Given the description of an element on the screen output the (x, y) to click on. 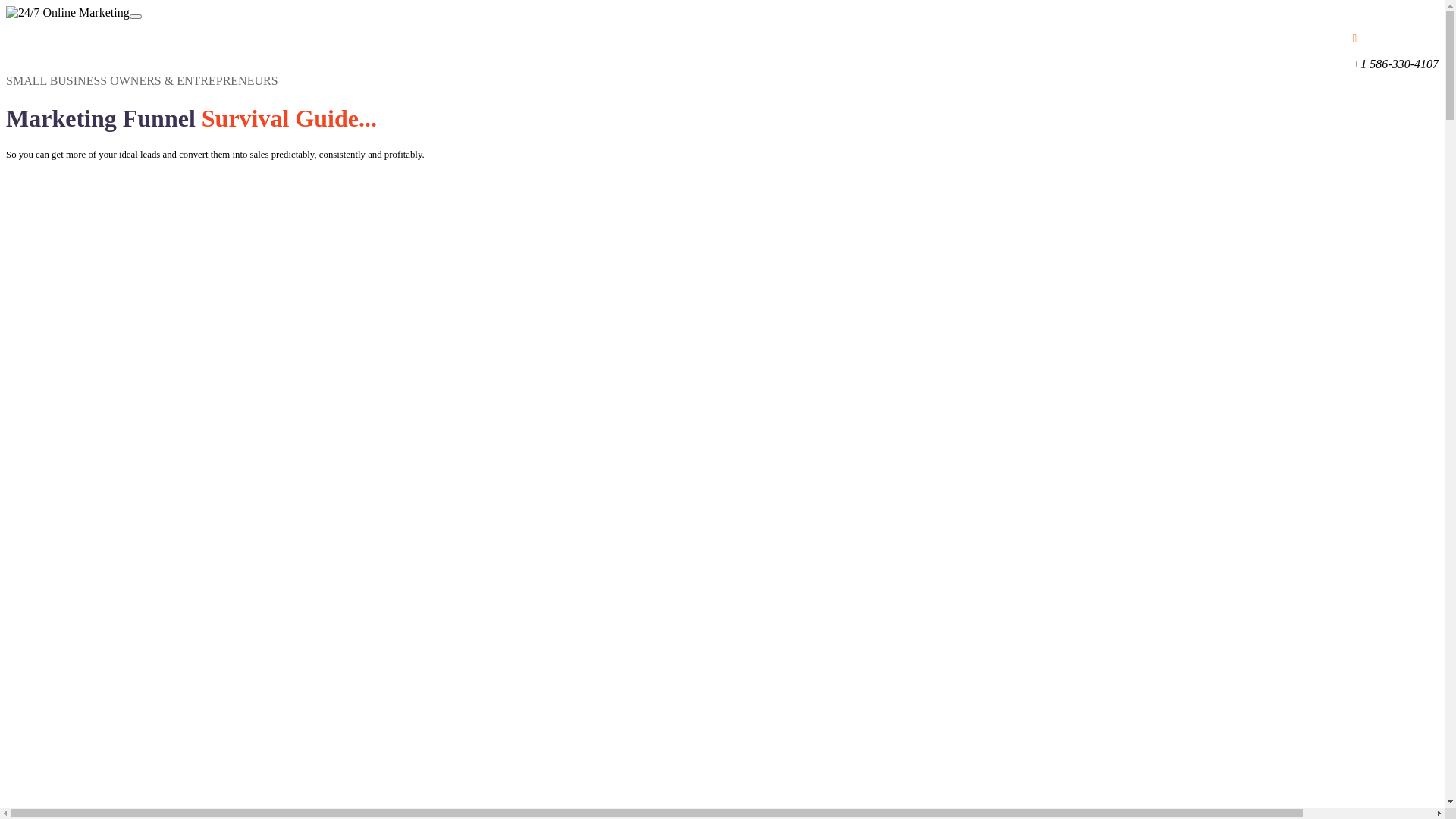
Toggle navigation Element type: text (135, 16)
